Given the description of an element on the screen output the (x, y) to click on. 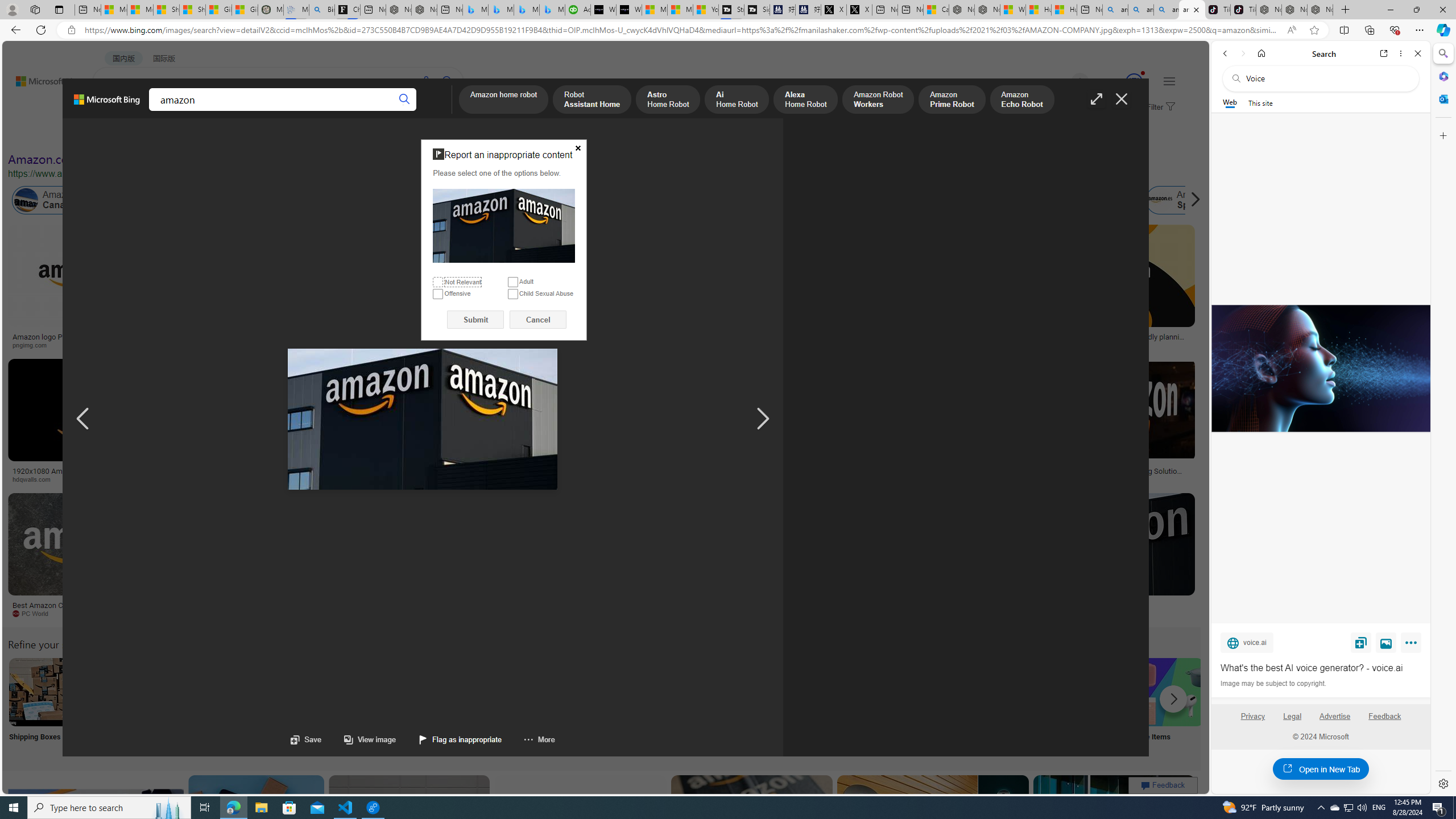
Amazon Shoes (1103, 199)
Dallas Morning News (749, 479)
Flag as inappropriate (449, 739)
Settings and quick links (1168, 80)
Amazon Prime Shopping Online Prime Shopping Online (944, 706)
Visa Card Login (1093, 706)
downdetector.ae (937, 344)
Amazon Labor Law Violation in California (564, 200)
